Given the description of an element on the screen output the (x, y) to click on. 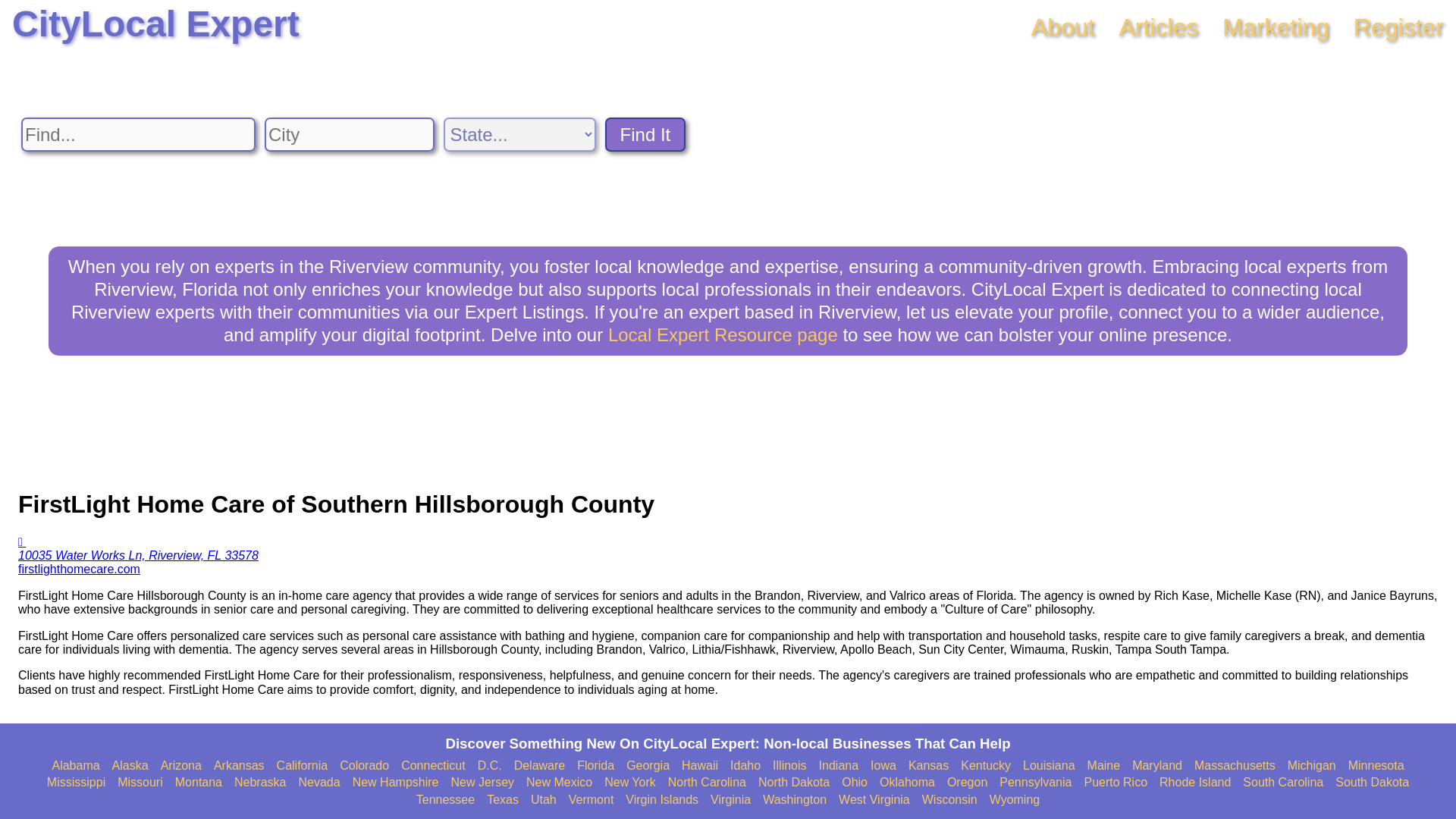
Minnesota (1376, 766)
Iowa (883, 766)
Maryland (1157, 766)
About (1062, 27)
Louisiana (1049, 766)
Business Marketing Opportunites (1276, 27)
Find Businesses in Colorado (363, 766)
D.C. (489, 766)
About CityLocal Expert (1062, 27)
Find Businesses in Alabama (74, 766)
Marketing (1276, 27)
Find Businesses in Alaska (130, 766)
Hawaii (699, 766)
Find Businesses in Florida (595, 766)
Massachusetts (1234, 766)
